Given the description of an element on the screen output the (x, y) to click on. 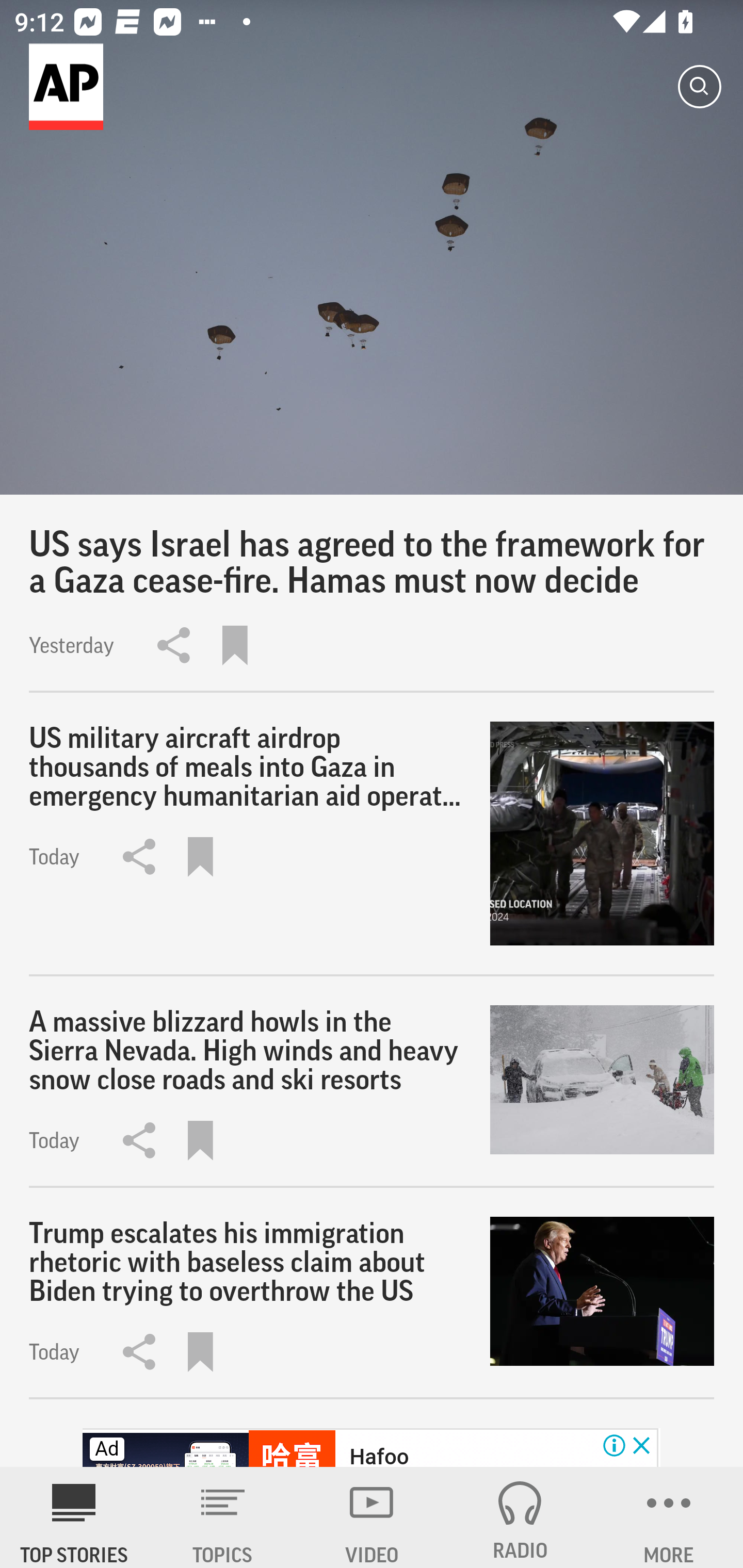
Hafoo (378, 1454)
AP News TOP STORIES (74, 1517)
TOPICS (222, 1517)
VIDEO (371, 1517)
RADIO (519, 1517)
MORE (668, 1517)
